Given the description of an element on the screen output the (x, y) to click on. 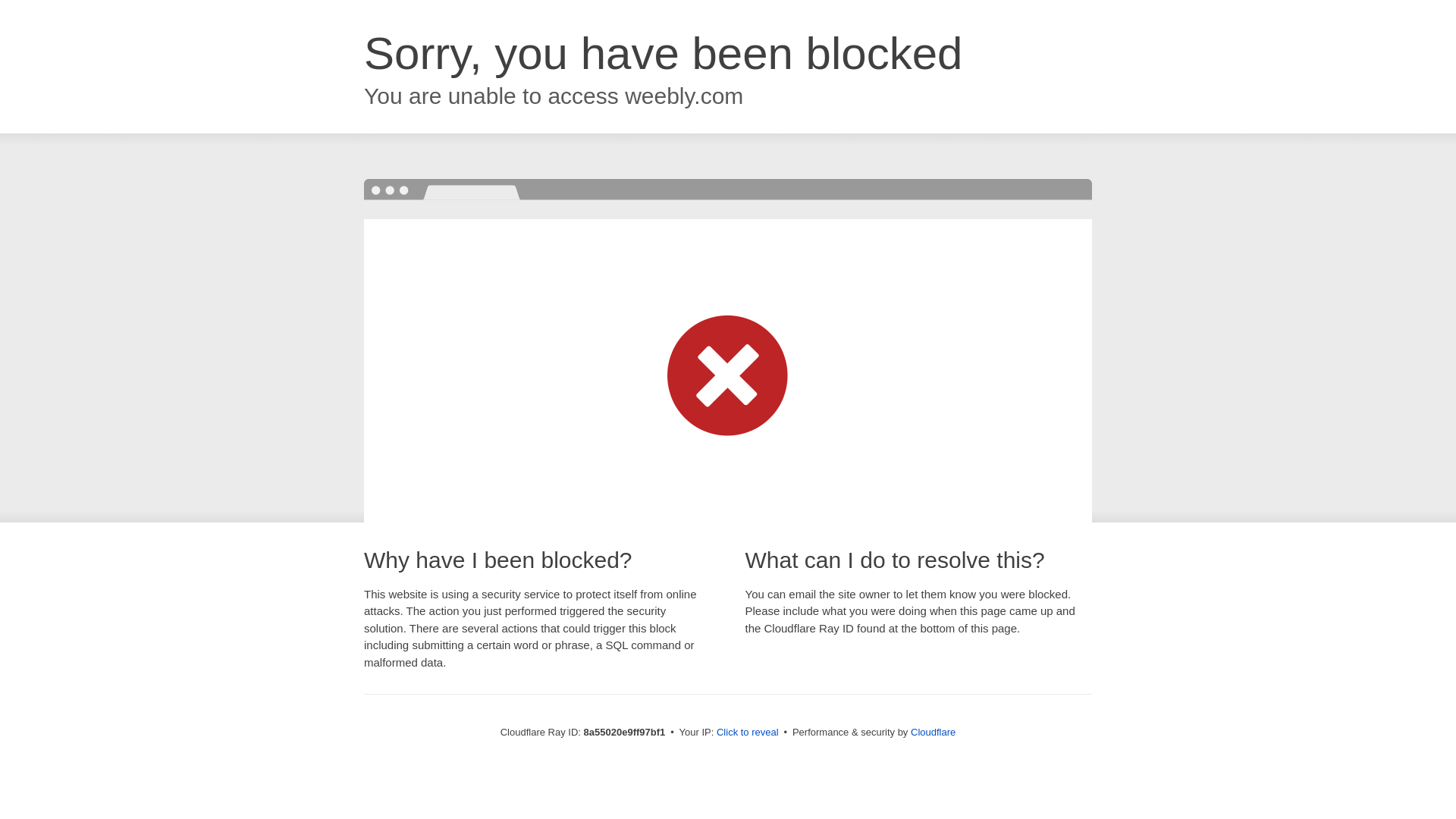
Cloudflare (933, 731)
Click to reveal (747, 732)
